Given the description of an element on the screen output the (x, y) to click on. 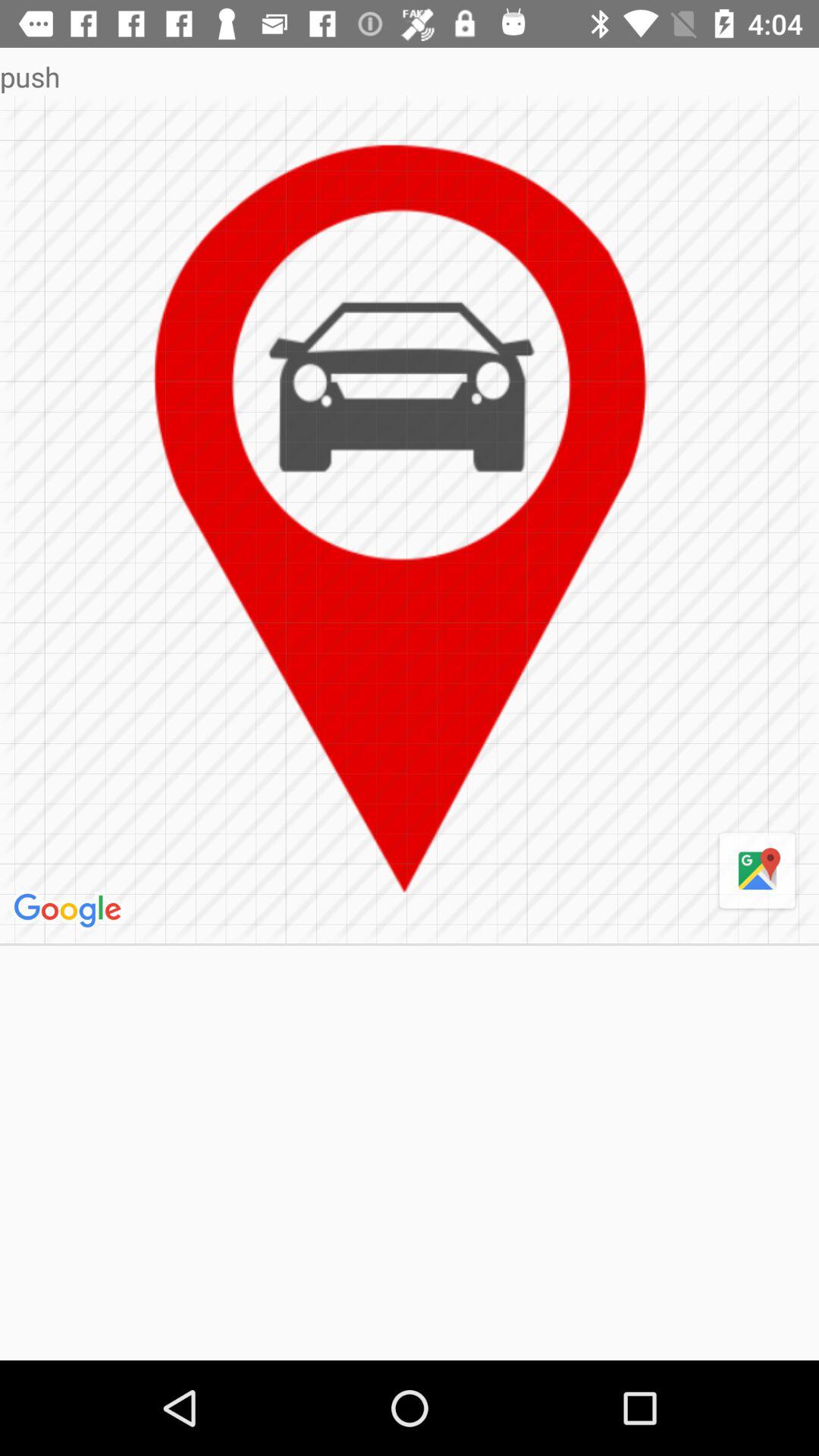
jump to the push (409, 76)
